Given the description of an element on the screen output the (x, y) to click on. 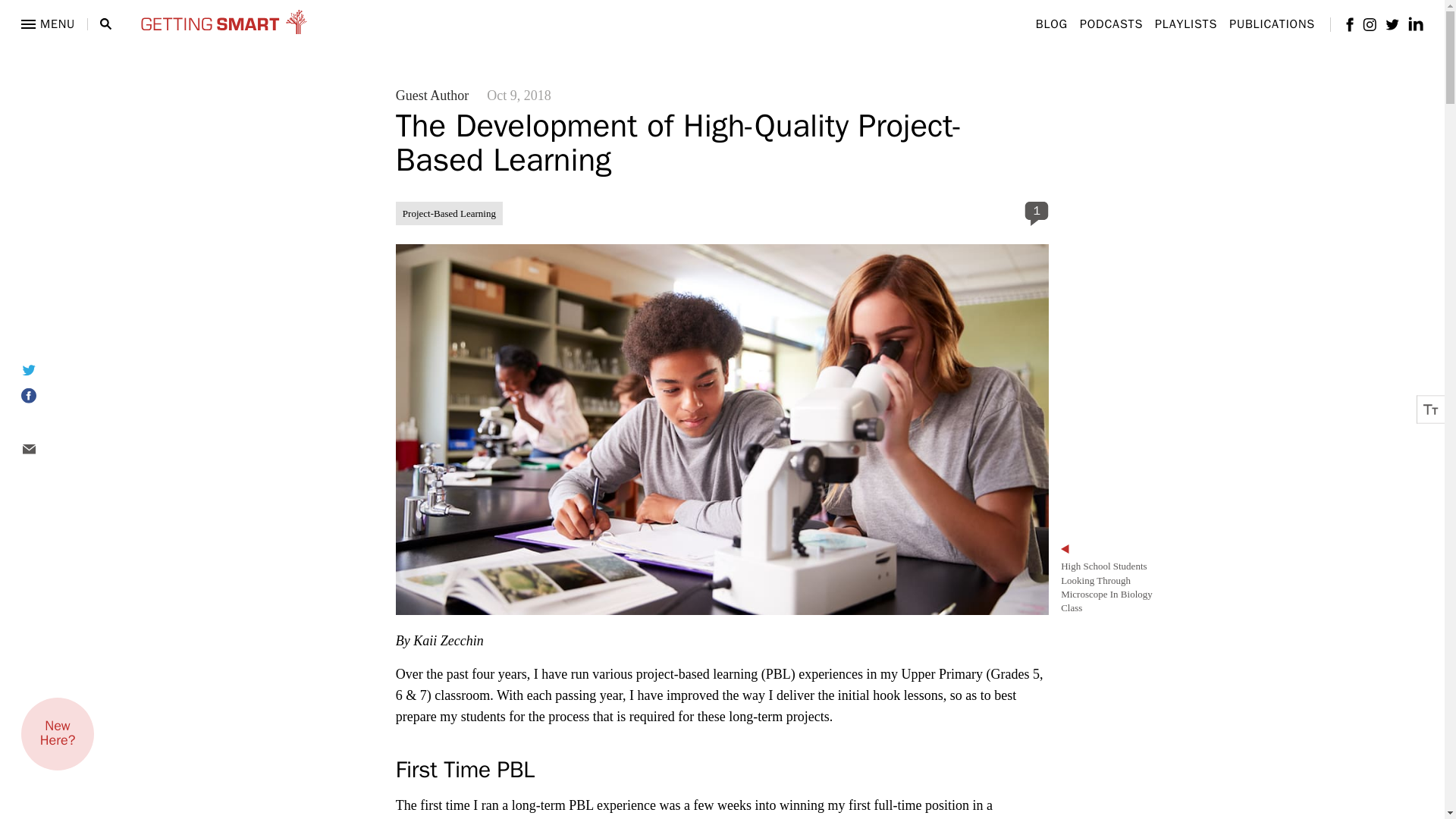
Share on LinkedIn (47, 422)
PLAYLISTS (1185, 23)
Share on Twitter (47, 369)
linkedin (1415, 23)
instagram (1368, 24)
Share on Facebook (47, 395)
PODCASTS (1111, 23)
PUBLICATIONS (1271, 23)
Share via Email (47, 449)
twitter (1392, 23)
